Given the description of an element on the screen output the (x, y) to click on. 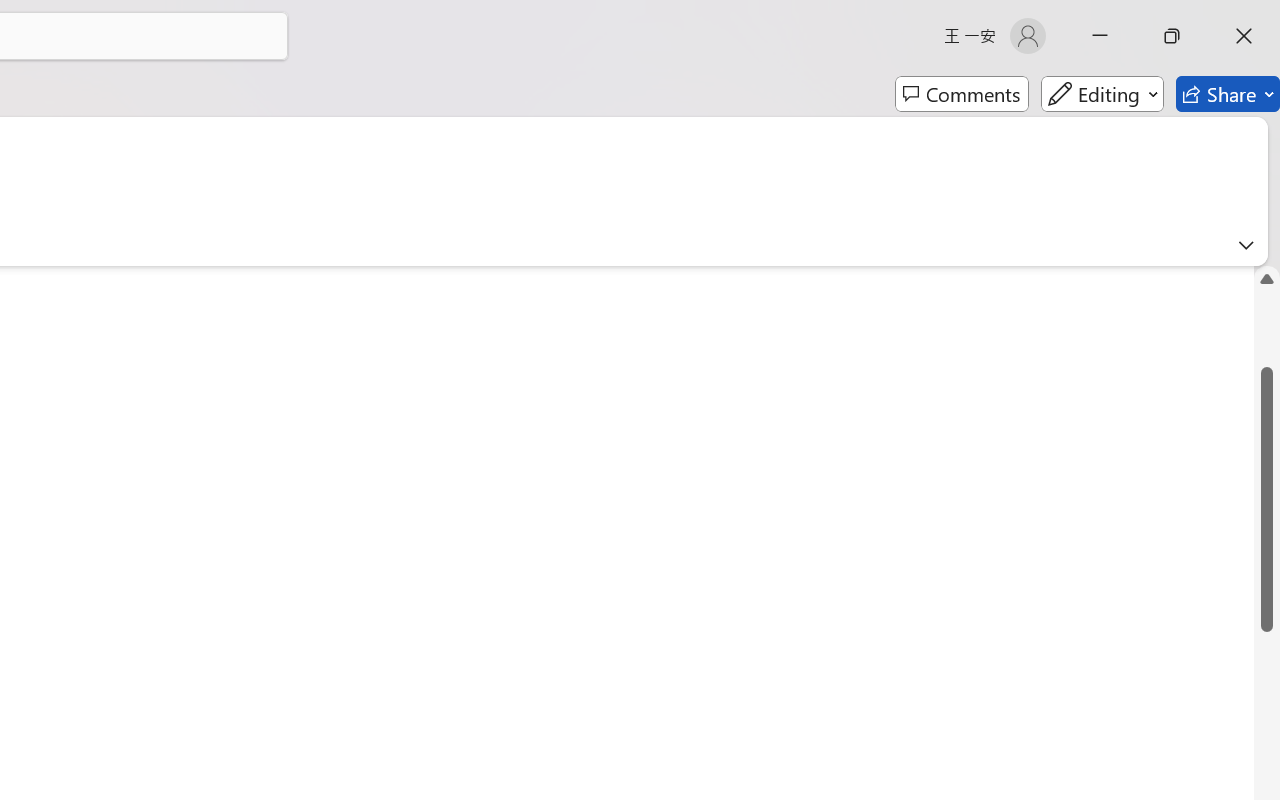
Comments (961, 94)
Minimize (1099, 36)
Editing (1101, 94)
Restore Down (1172, 36)
Line up (1267, 278)
Page up (1267, 329)
Ribbon Display Options (1246, 245)
Close (1244, 36)
Share (1228, 94)
